Given the description of an element on the screen output the (x, y) to click on. 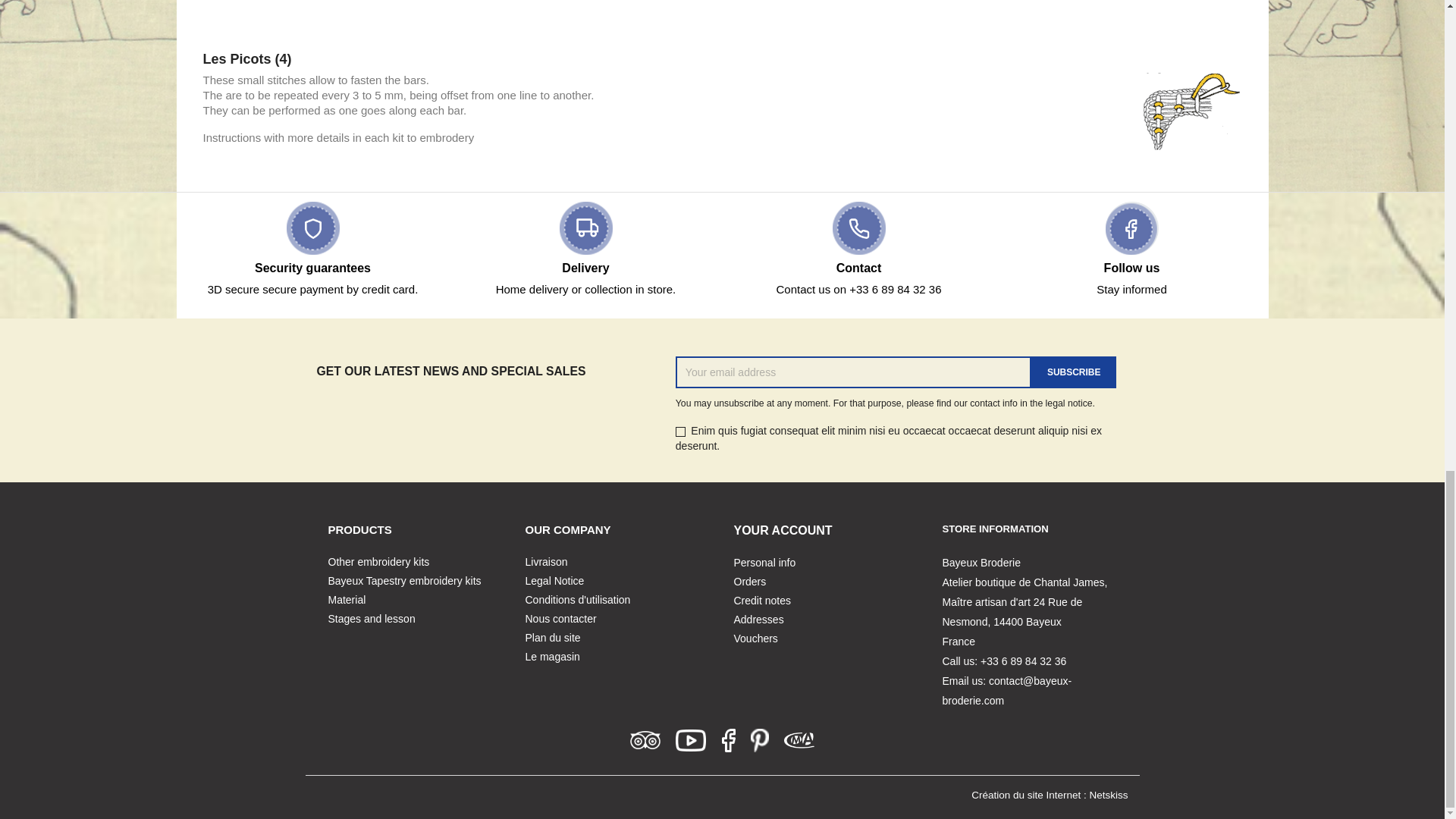
Personal info (764, 562)
Credit notes (761, 600)
Subscribe (1073, 372)
Addresses (758, 619)
Legal Notice (553, 580)
Nos conditions de livraison (545, 562)
Vouchers (755, 638)
Nos conditions d'utilisation (577, 599)
Utiliser le formulaire pour nous contacter (559, 618)
Other embroidery kits (378, 562)
Subscribe (1073, 372)
Orders (750, 581)
